Given the description of an element on the screen output the (x, y) to click on. 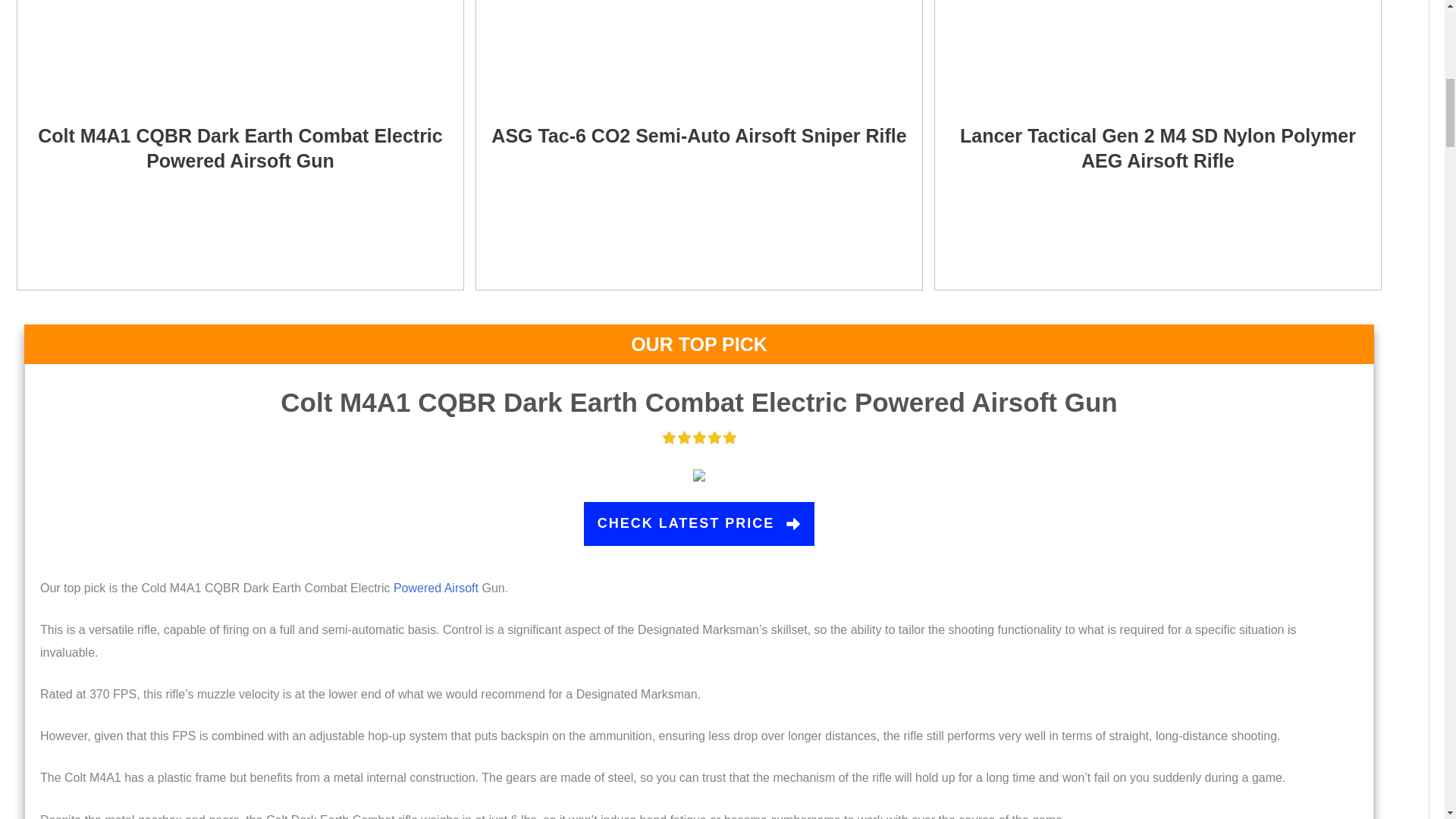
ASG Tac-6 CO2 Semi-Auto Airsoft Sniper Rifle (698, 135)
Powered Airsoft (436, 587)
Lancer Tactical Gen 2 M4 SD Nylon Polymer AEG Airsoft Rifle (1157, 148)
CHECK LATEST PRICE (699, 524)
Nofollow link (1157, 148)
Nofollow link (698, 401)
Nofollow link (239, 148)
Nofollow link (699, 524)
